Given the description of an element on the screen output the (x, y) to click on. 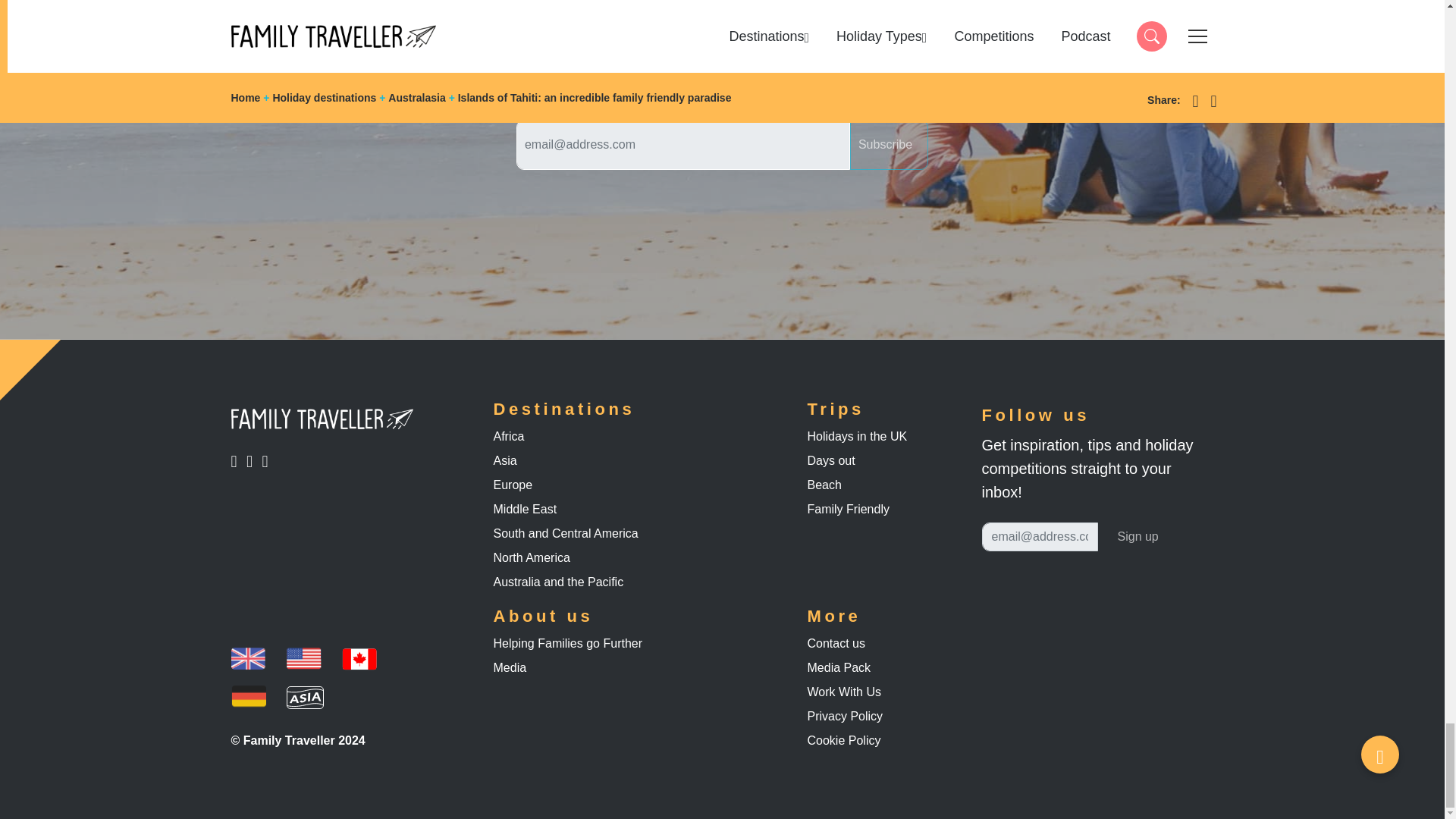
Subscribe (268, 461)
Visit Family Traveller USA (889, 144)
Visit Family Traveller UK (303, 658)
Visit Family Traveller Asia (247, 658)
Visit Family Traveller Canada (304, 696)
Sign up (254, 461)
Visit Family Traveller DE (238, 461)
